Given the description of an element on the screen output the (x, y) to click on. 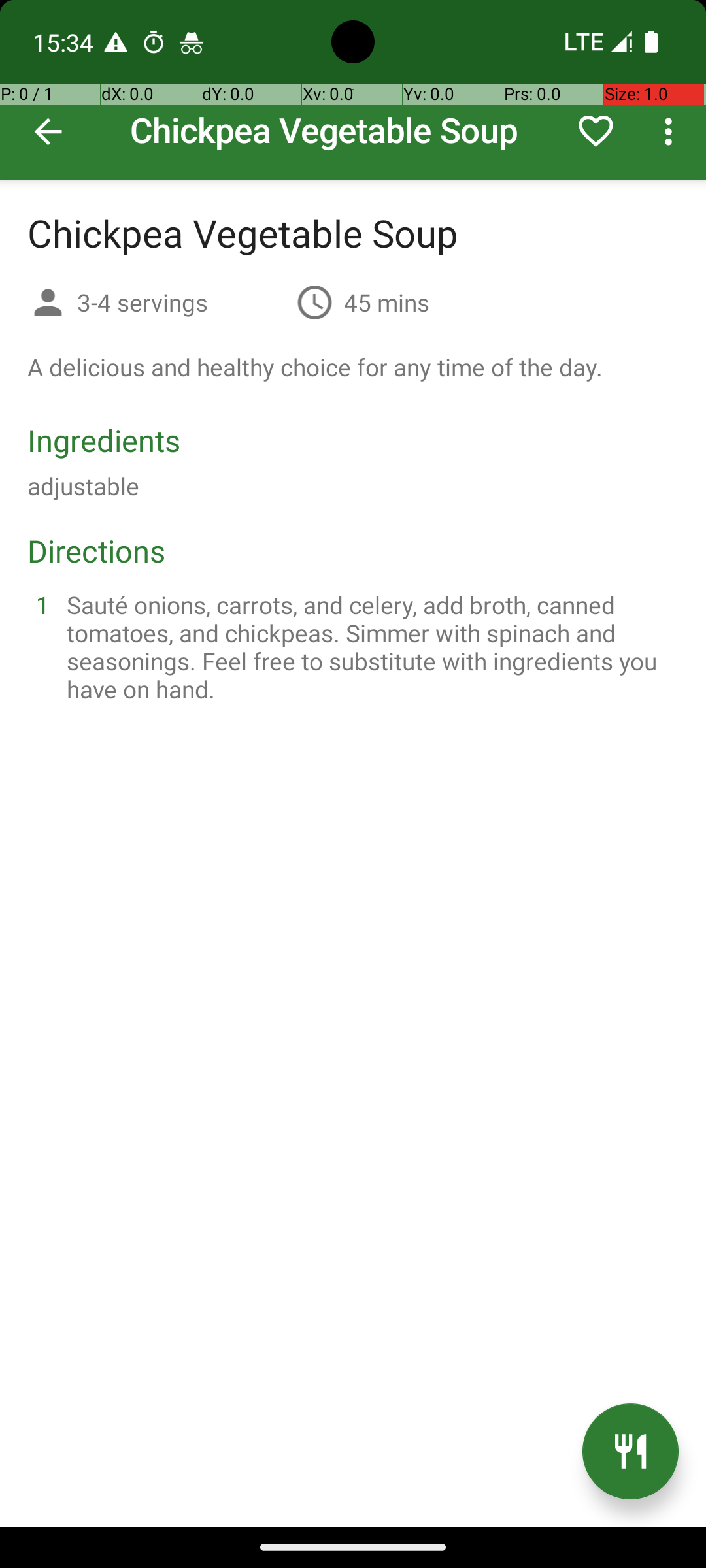
Chickpea Vegetable Soup Element type: android.widget.FrameLayout (353, 89)
3-4 servings Element type: android.widget.TextView (181, 301)
45 mins Element type: android.widget.TextView (386, 301)
adjustable Element type: android.widget.TextView (83, 485)
Sauté onions, carrots, and celery, add broth, canned tomatoes, and chickpeas. Simmer with spinach and seasonings. Feel free to substitute with ingredients you have on hand. Element type: android.widget.TextView (368, 646)
